Given the description of an element on the screen output the (x, y) to click on. 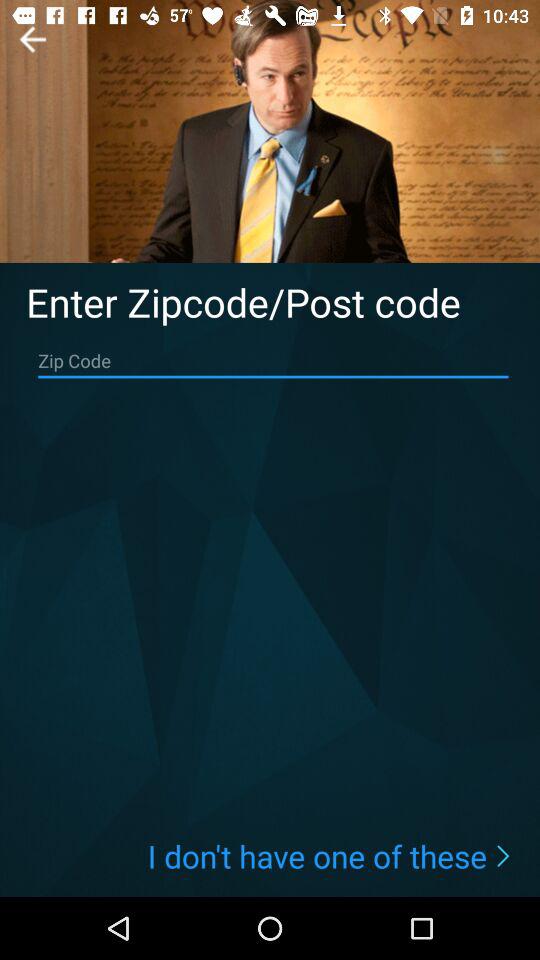
fill in with zip code (273, 361)
